Given the description of an element on the screen output the (x, y) to click on. 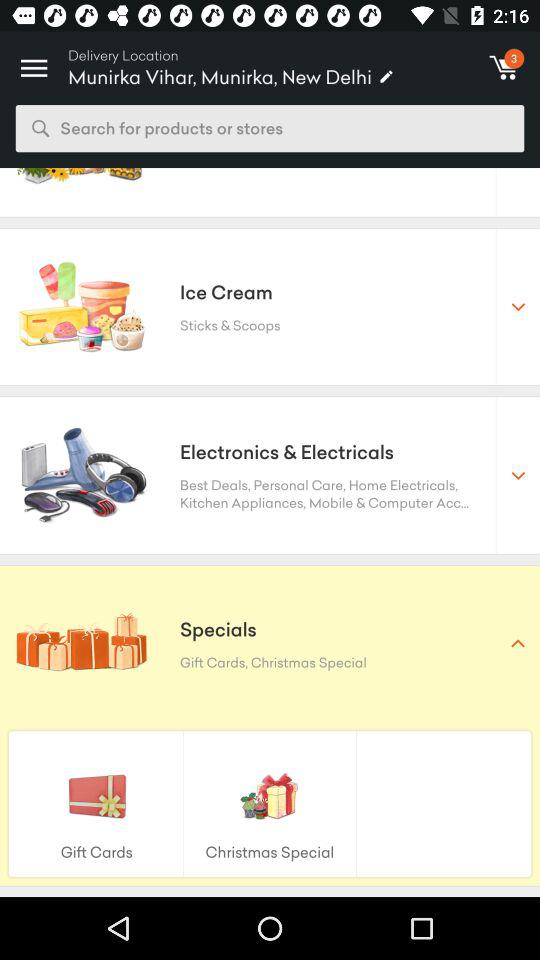
click on image right to gift cards at bottom left (269, 794)
click on the search icon (40, 128)
click on cart icon below time (504, 68)
click on second dropdown from the top (517, 474)
